Given the description of an element on the screen output the (x, y) to click on. 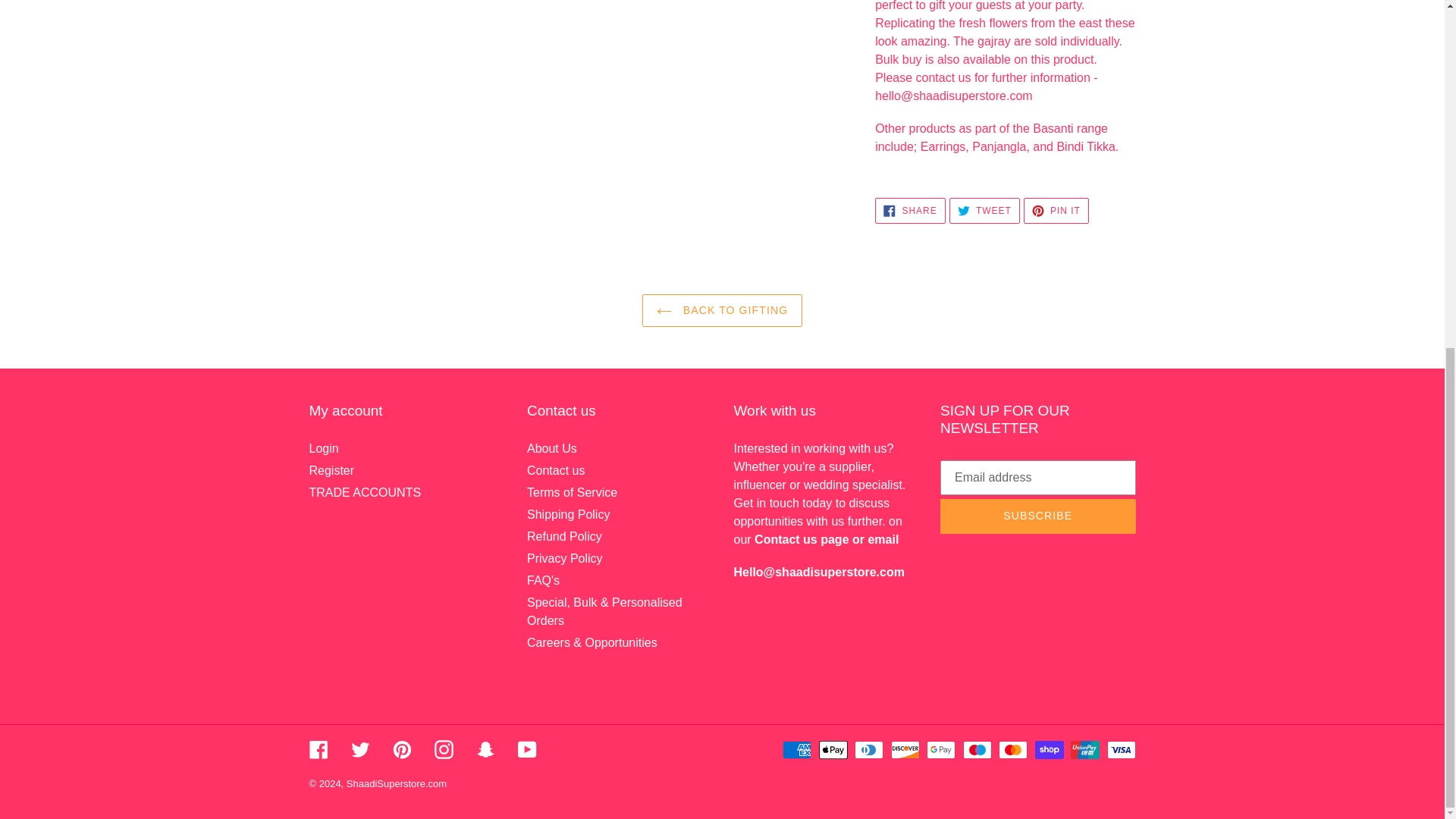
Contact us (801, 539)
